Given the description of an element on the screen output the (x, y) to click on. 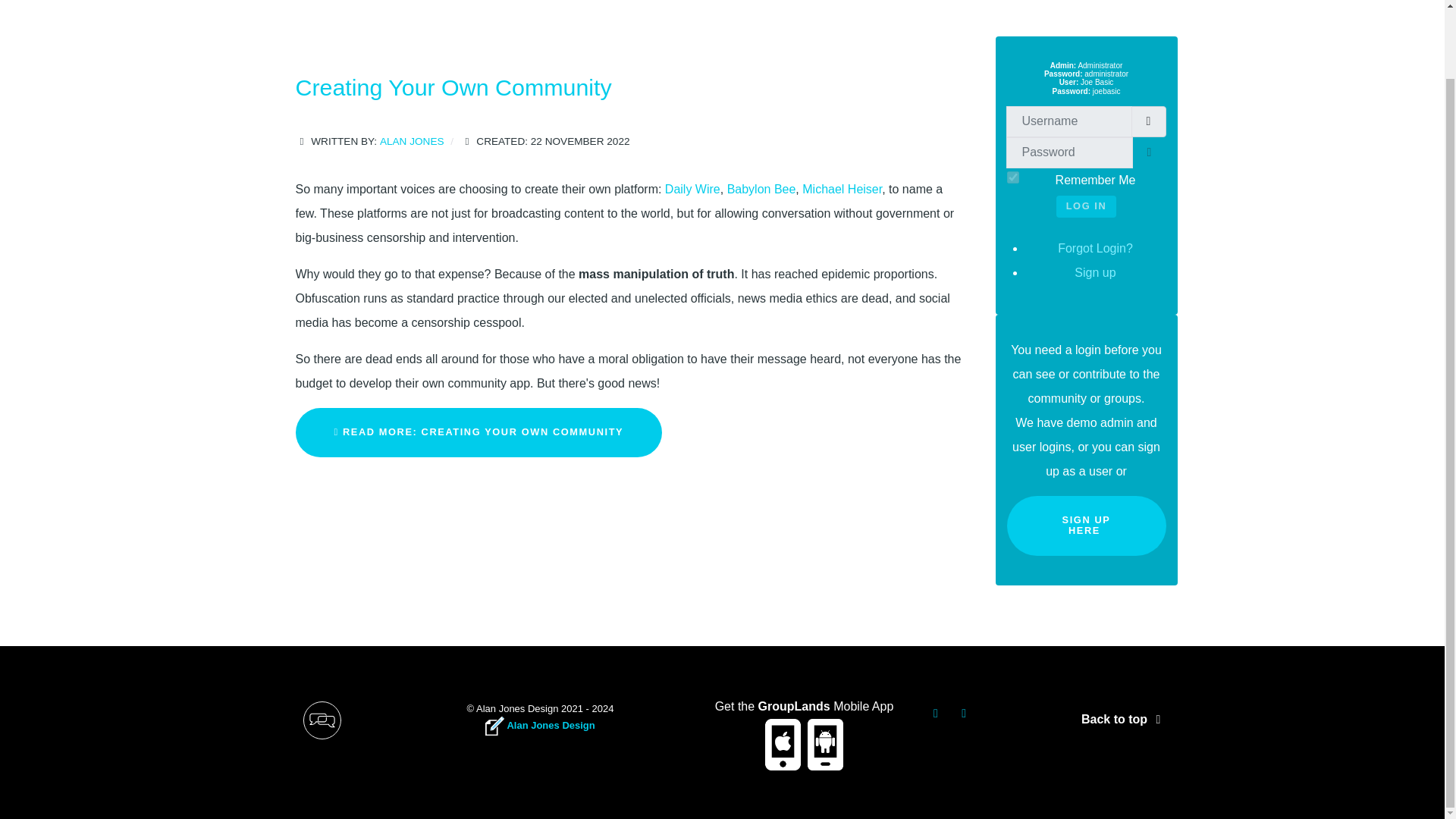
READ MORE: CREATING YOUR OWN COMMUNITY (478, 432)
Forgot Login? (1095, 247)
yes (1013, 177)
Babylon Bee (761, 188)
LOG IN (1086, 206)
Back to top (1123, 718)
Sign up (1094, 272)
Username (1148, 121)
Back to top (1123, 718)
Michael Heiser (842, 188)
